Given the description of an element on the screen output the (x, y) to click on. 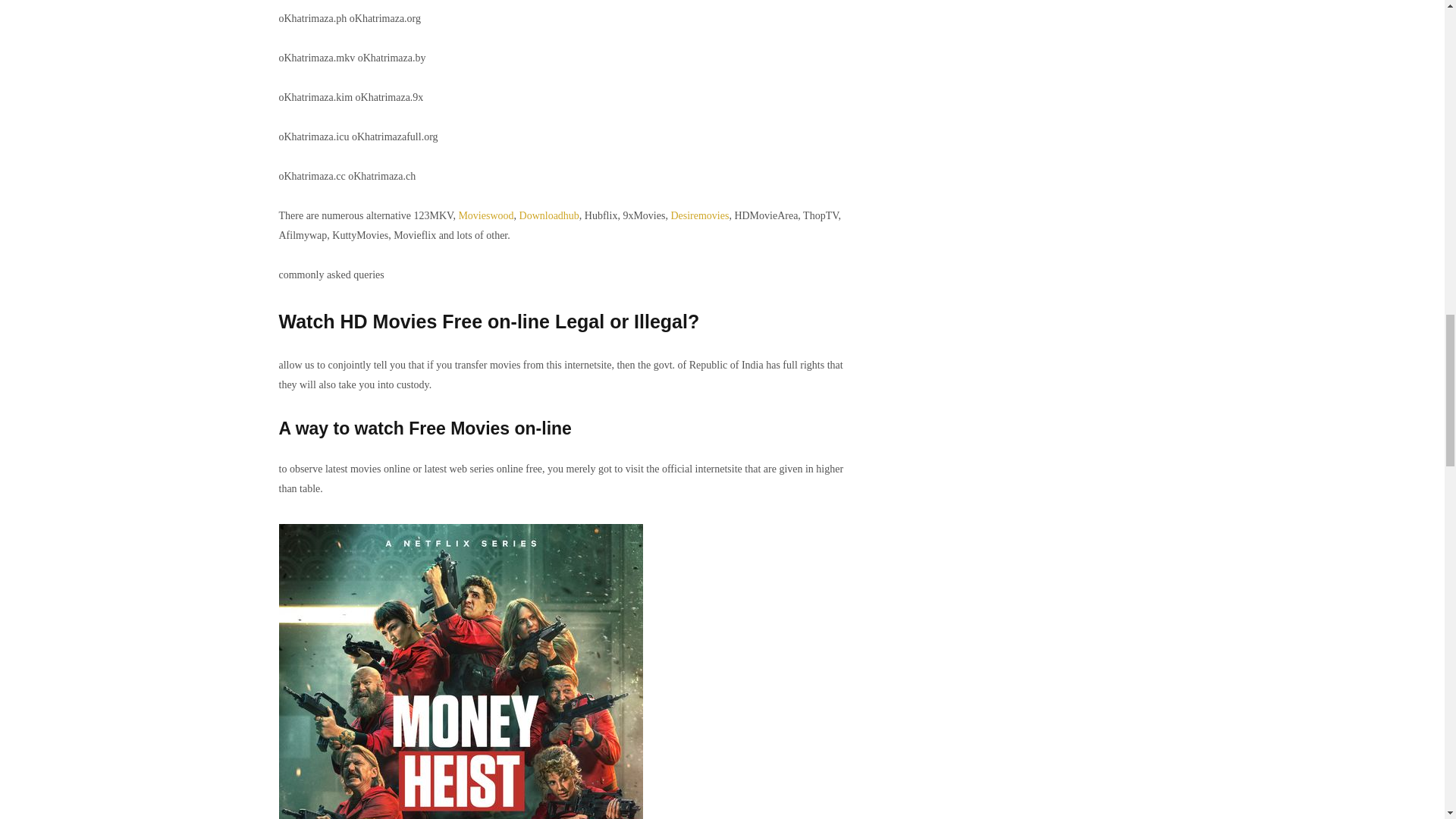
Movieswood (485, 215)
DownloadHub (549, 215)
Downloadhub (549, 215)
Movieswood (485, 215)
Desiremovies (699, 215)
